Given the description of an element on the screen output the (x, y) to click on. 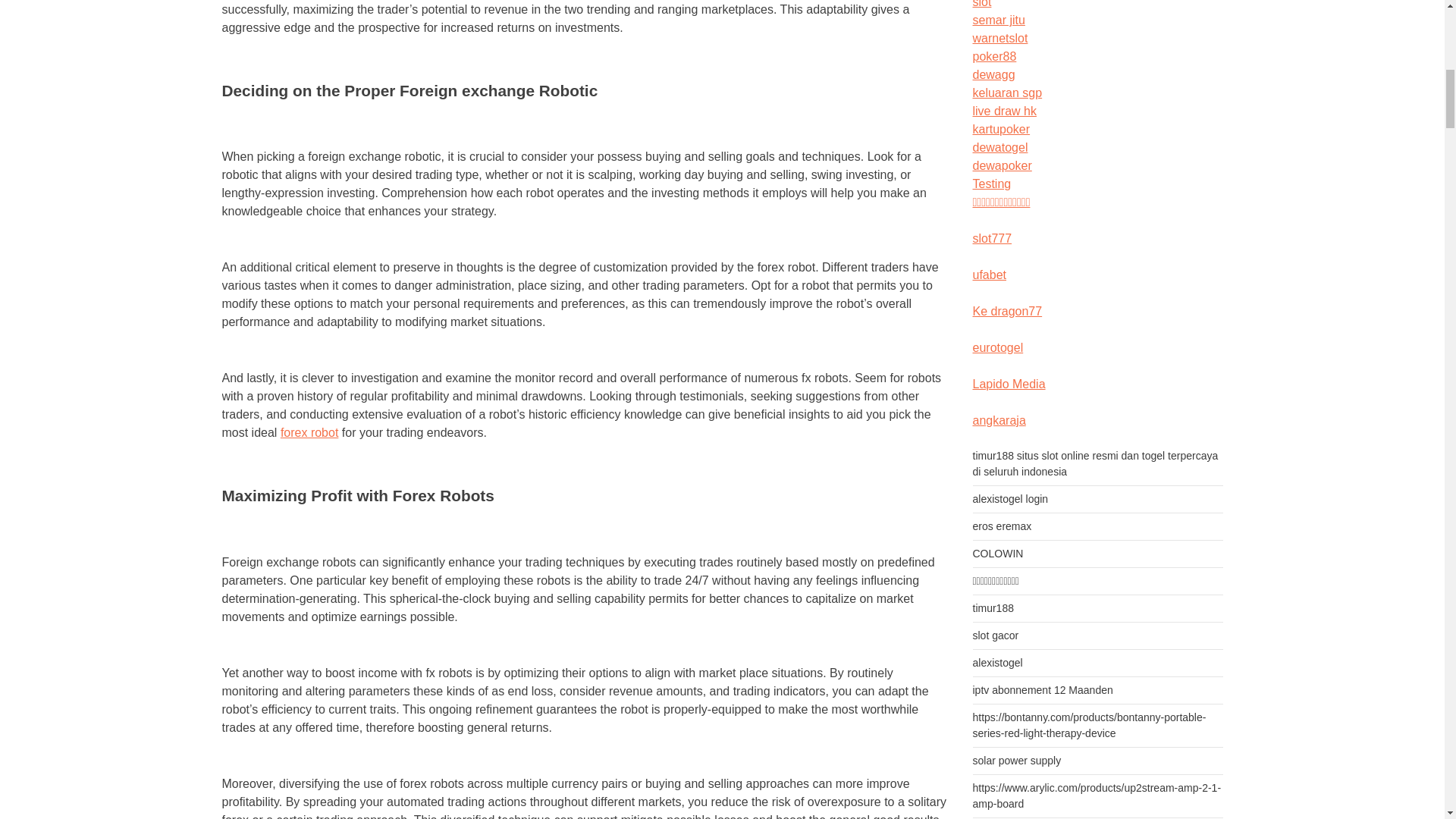
forex robot (309, 431)
